Given the description of an element on the screen output the (x, y) to click on. 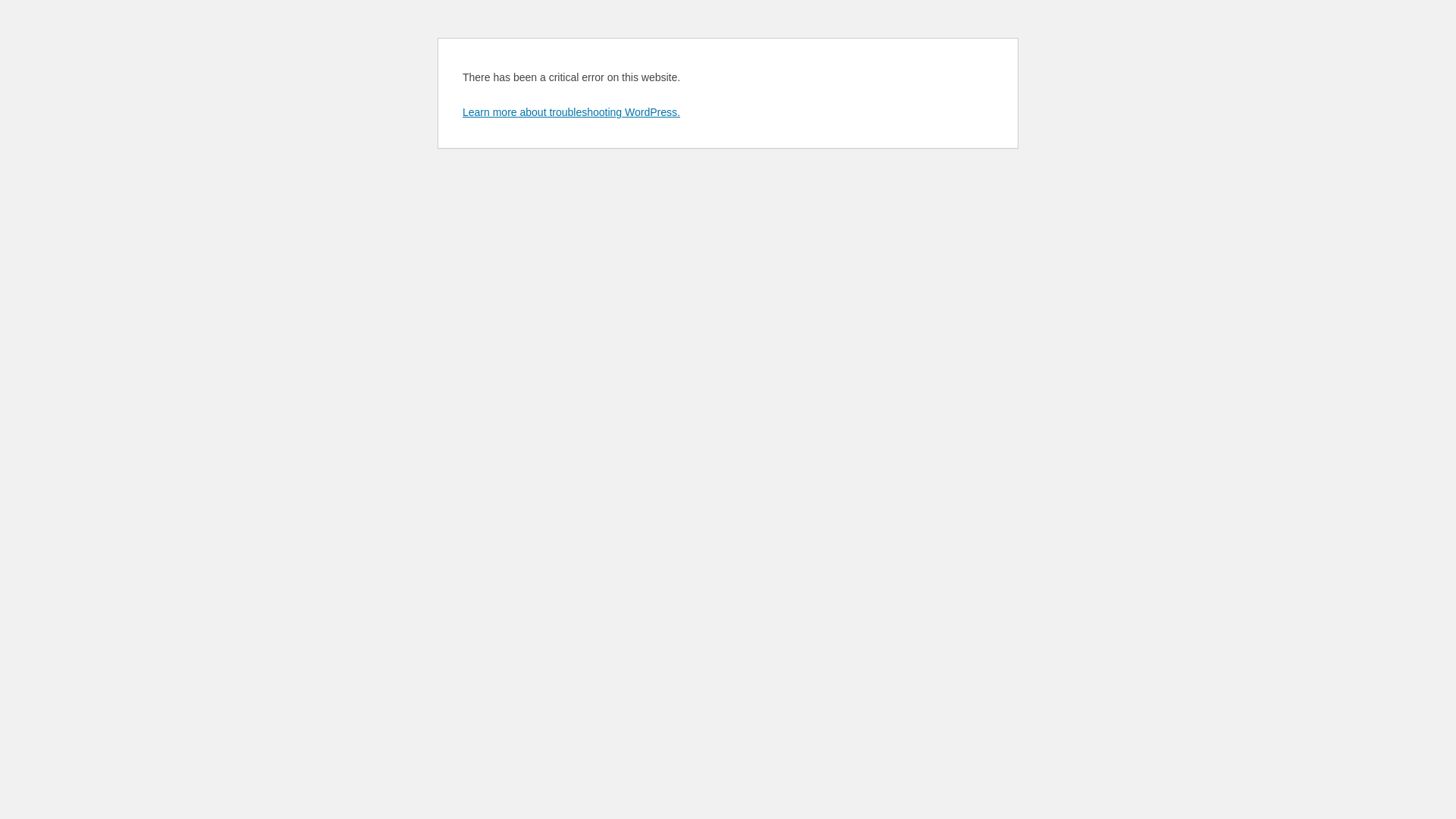
Learn more about troubleshooting WordPress. Element type: text (571, 112)
